Given the description of an element on the screen output the (x, y) to click on. 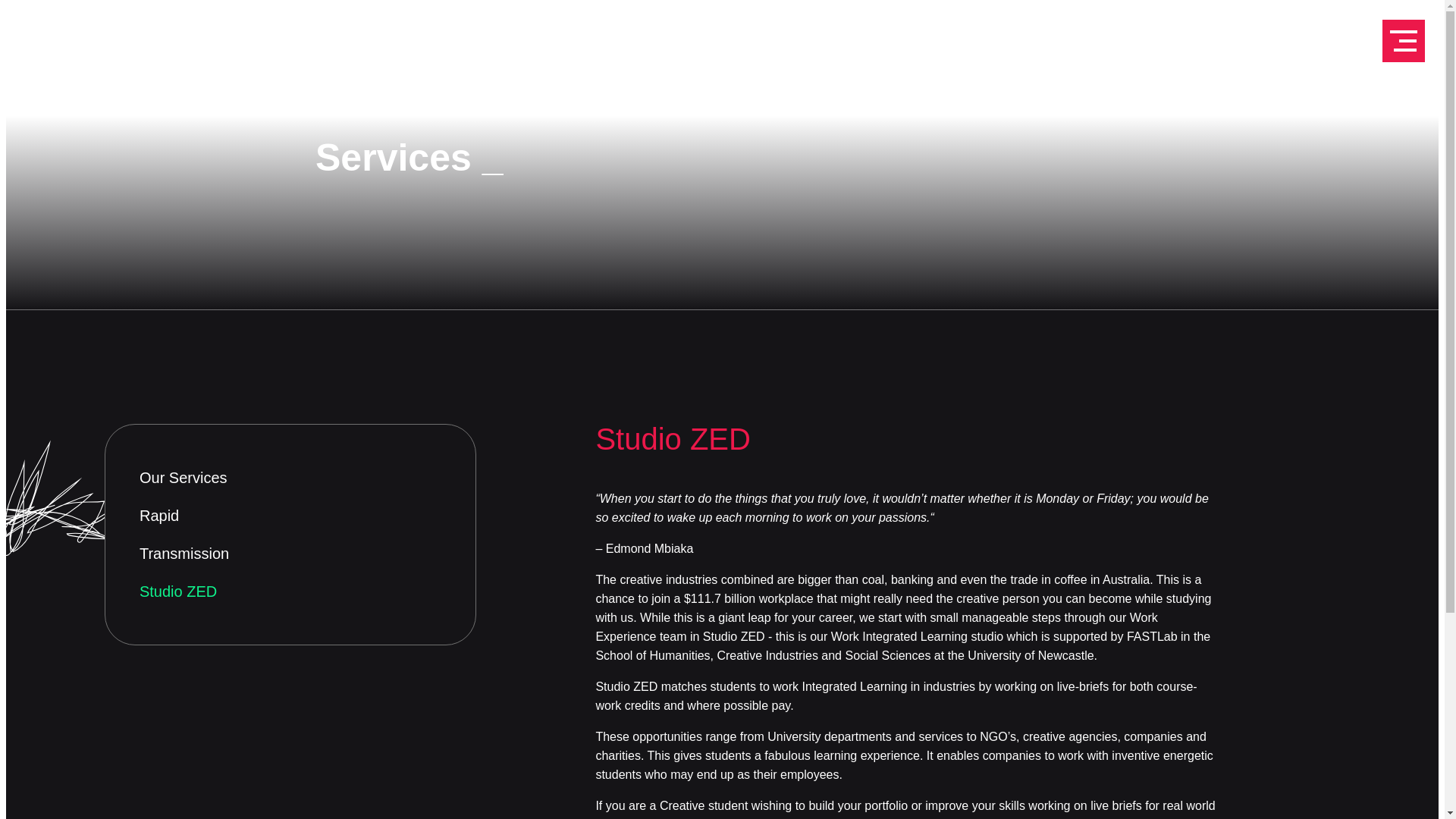
Rapid Element type: text (290, 515)
Studio ZED Element type: text (290, 591)
Our Services Element type: text (290, 477)
Transmission Element type: text (290, 553)
